Given the description of an element on the screen output the (x, y) to click on. 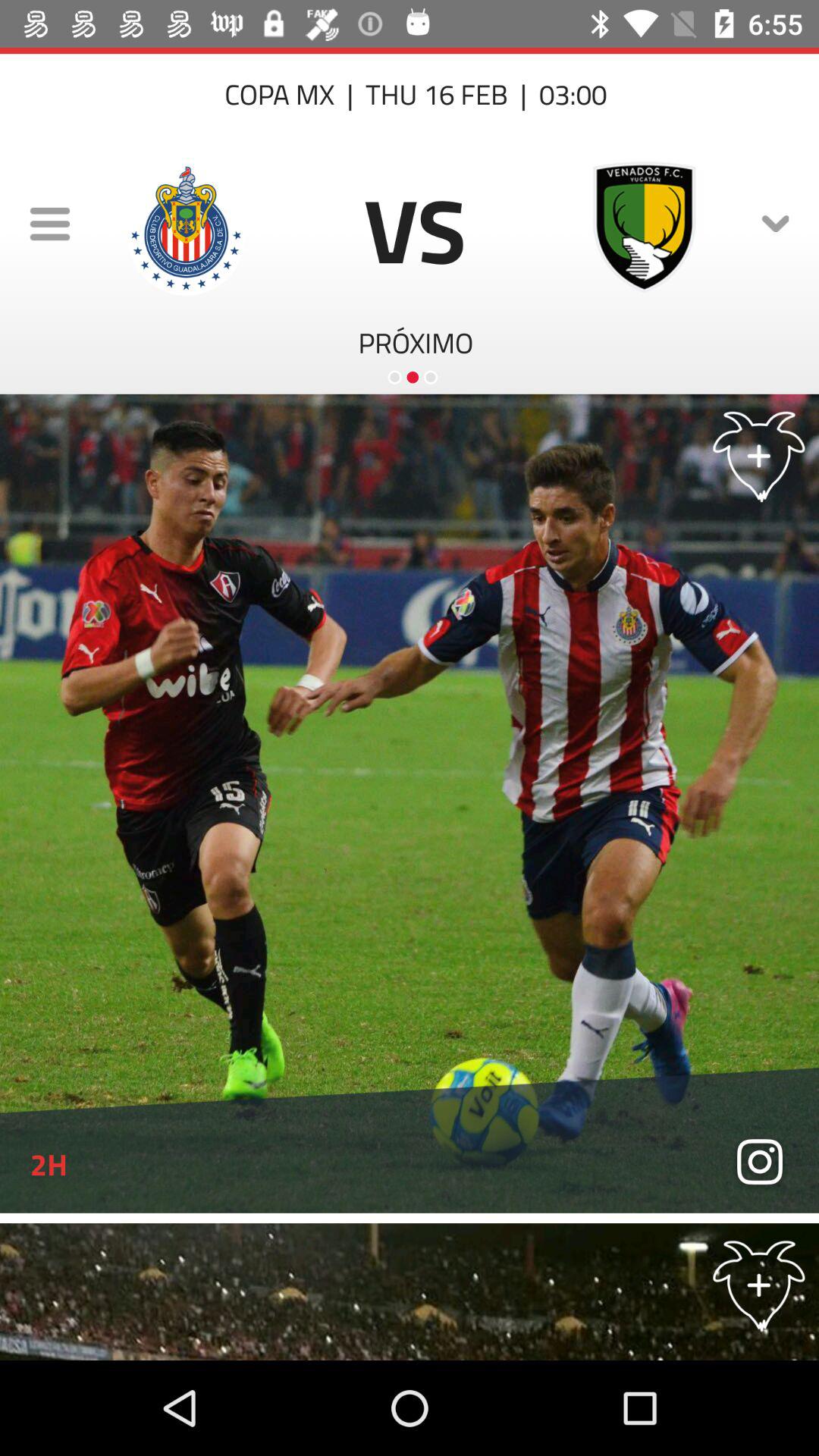
click on the instagram icon (759, 1163)
select the logo next to menu icon (186, 227)
click on add icon on the first image (759, 453)
